Given the description of an element on the screen output the (x, y) to click on. 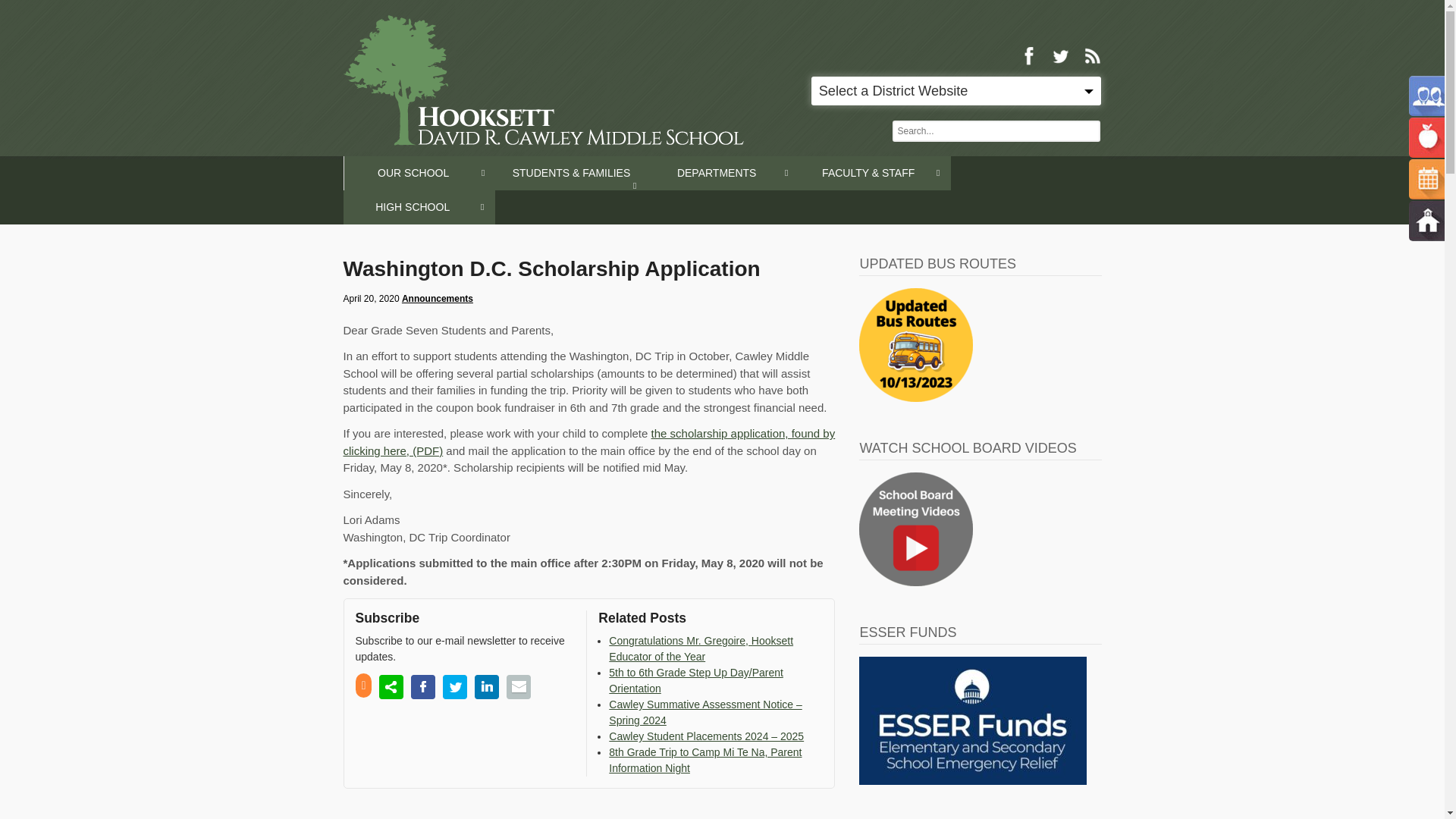
View all items in Announcements (437, 298)
OUR SCHOOL (419, 173)
2020-04-20T10:11:16-0400 (370, 298)
David R. Cawley Middle School (542, 80)
